Given the description of an element on the screen output the (x, y) to click on. 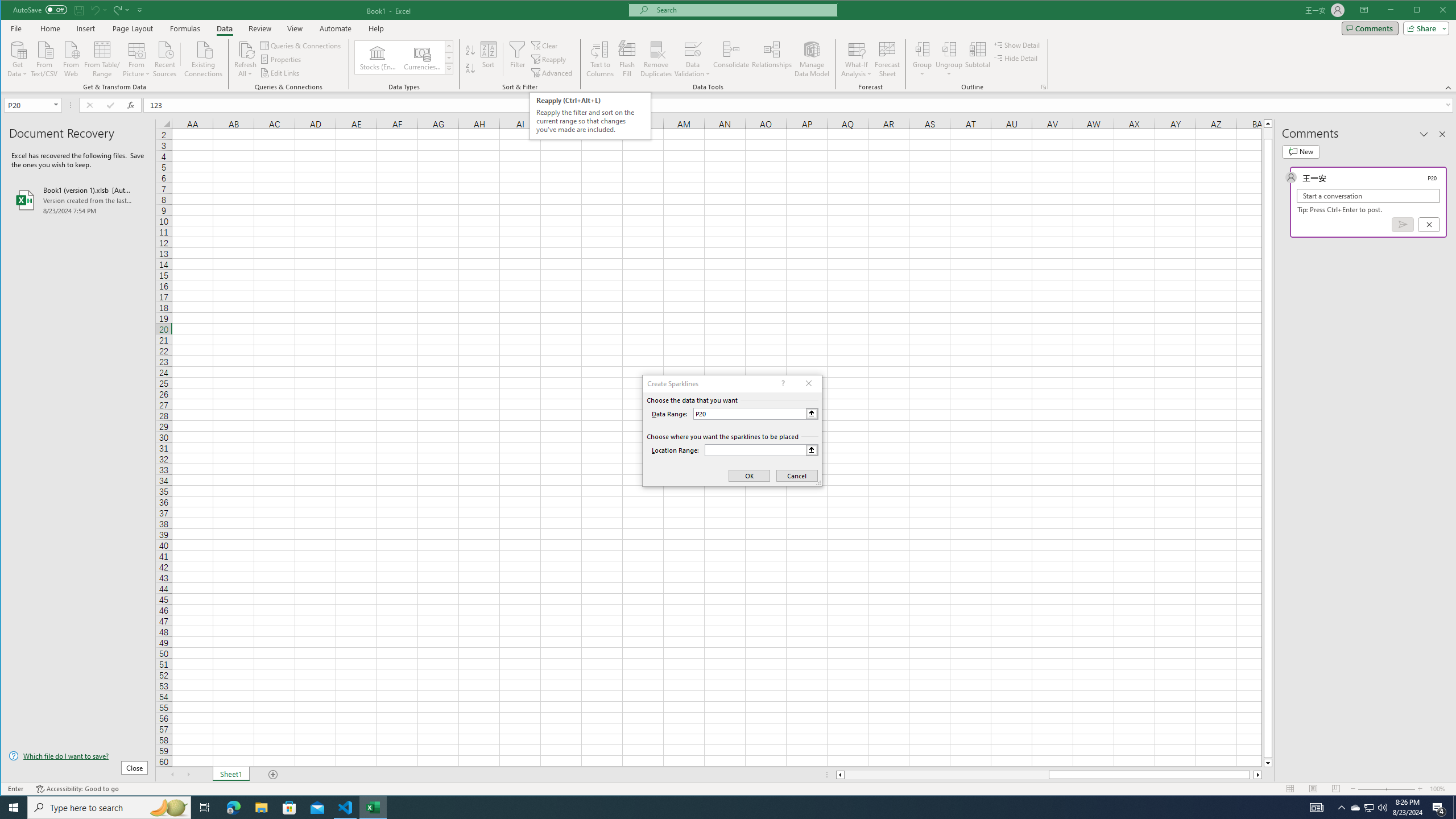
Start a conversation (1368, 195)
Sort Smallest to Largest (470, 49)
